Given the description of an element on the screen output the (x, y) to click on. 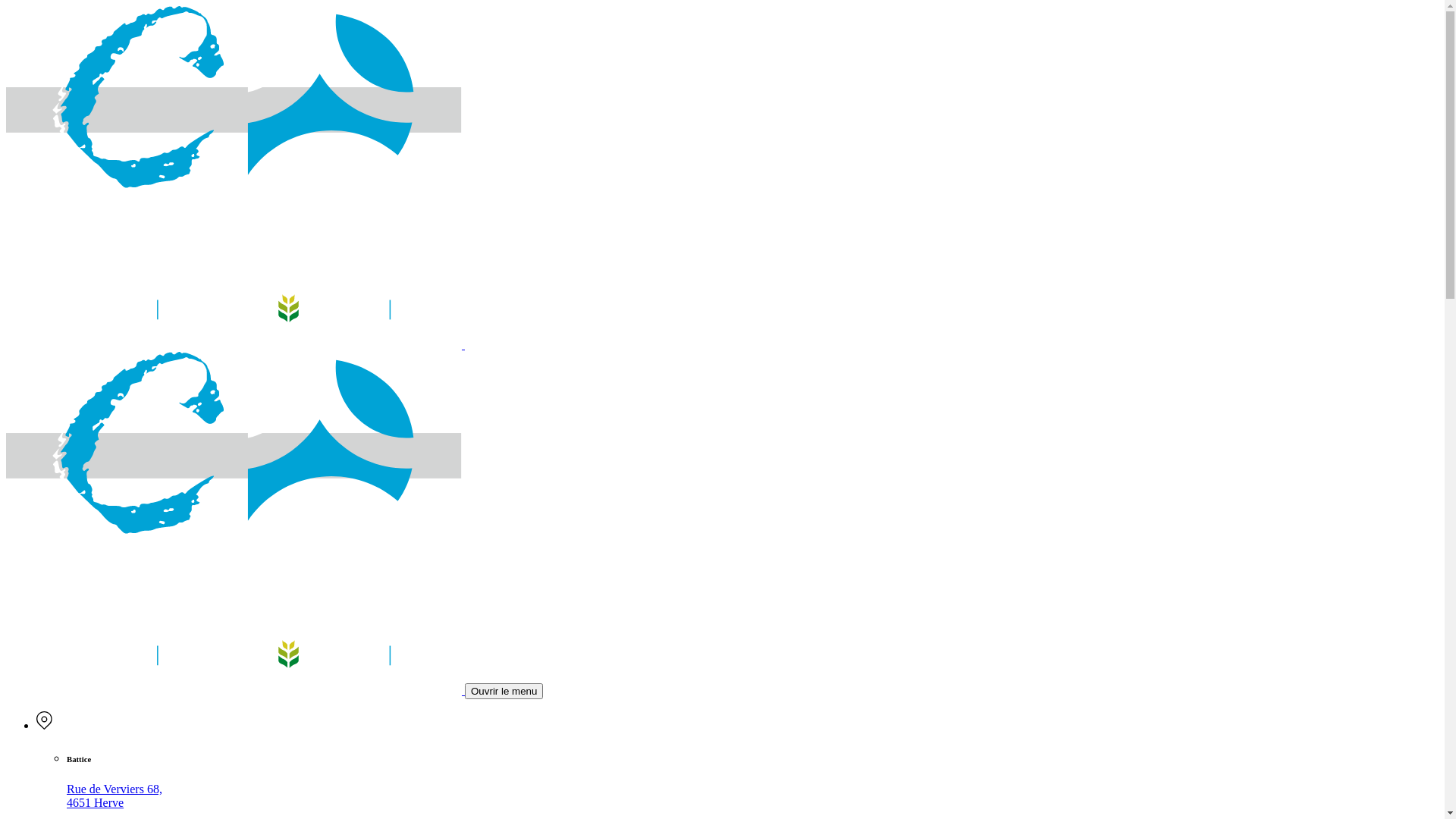
Rue de Verviers 68,
4651 Herve Element type: text (114, 795)
Ouvrir le menu Element type: text (503, 691)
